Given the description of an element on the screen output the (x, y) to click on. 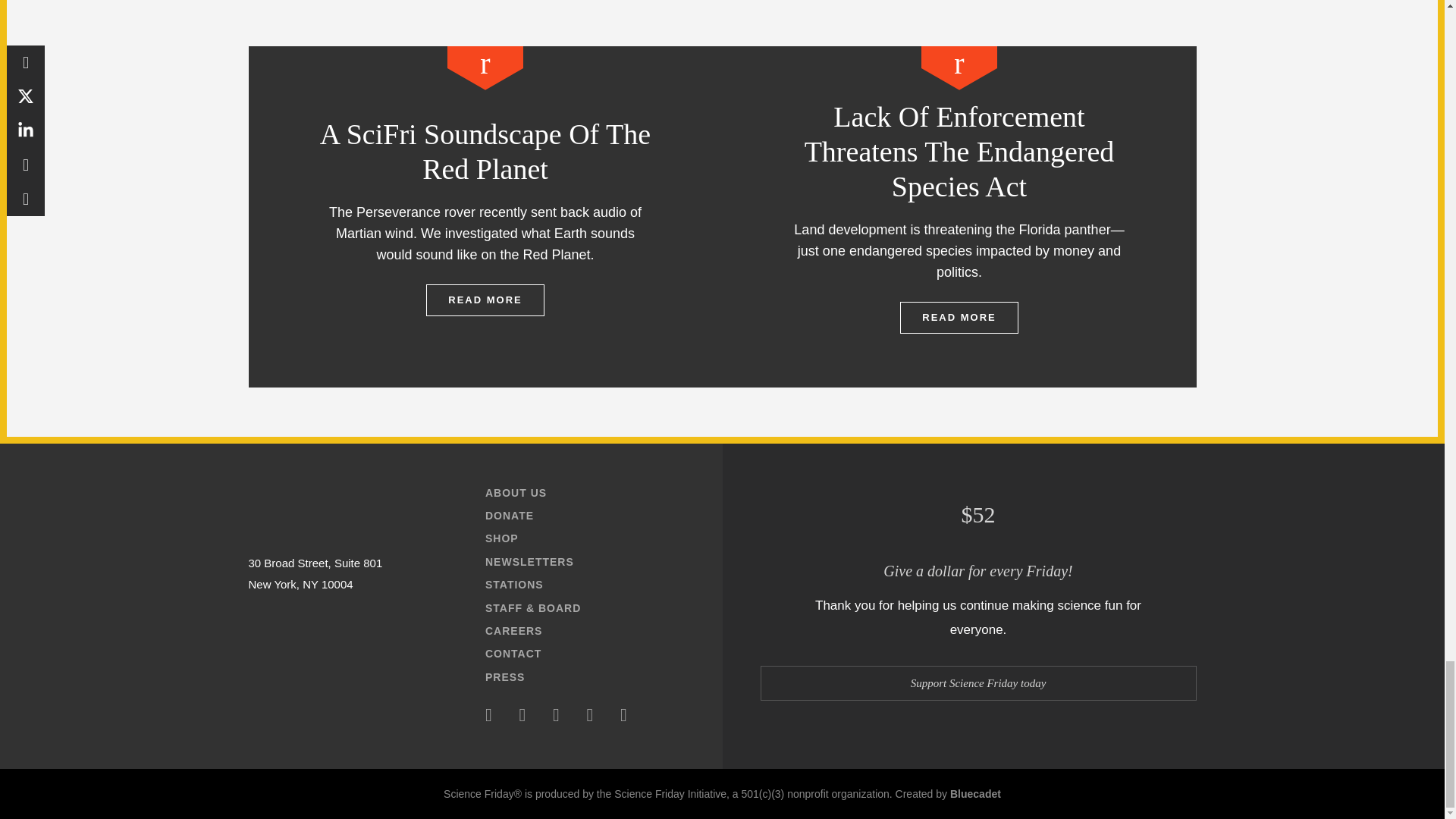
Segment (484, 67)
Read More (484, 300)
